Given the description of an element on the screen output the (x, y) to click on. 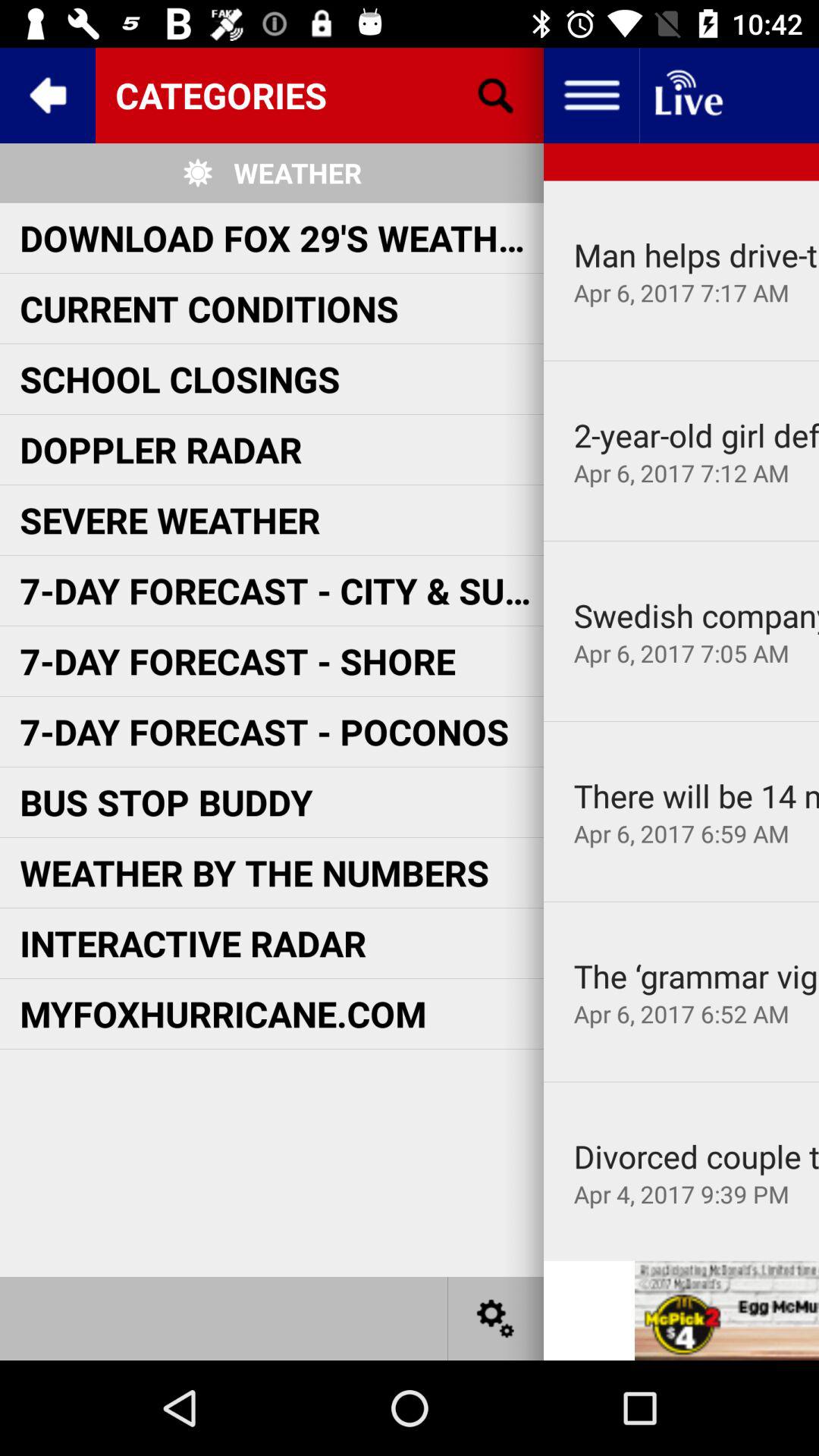
flip to interactive radar item (192, 943)
